Given the description of an element on the screen output the (x, y) to click on. 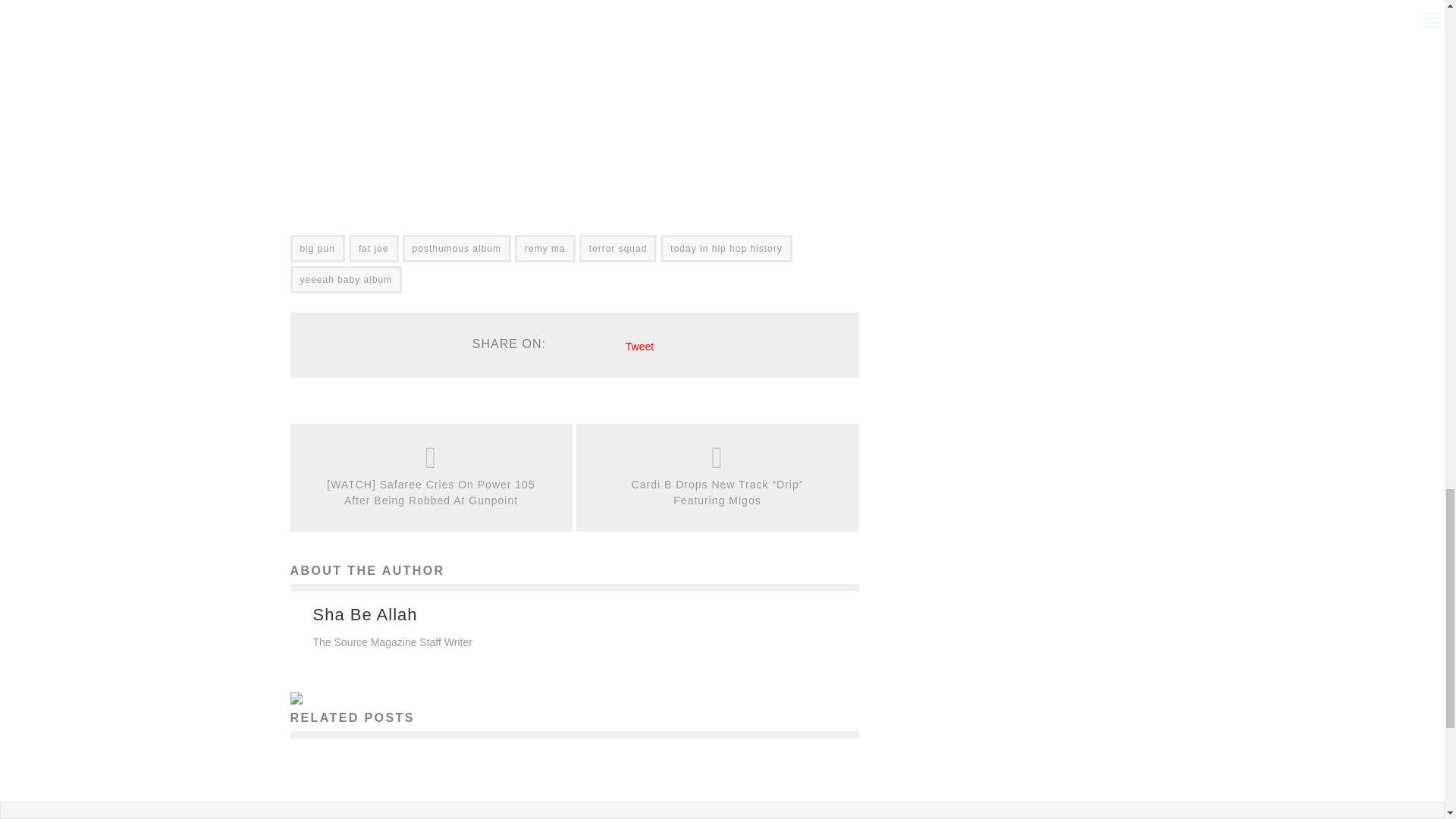
Sha Be Allah (364, 614)
remy ma (545, 248)
fat joe (373, 248)
terror squad (618, 248)
posthumous album (457, 248)
yeeeah baby album (345, 279)
big pun (316, 248)
Tweet (639, 346)
today in hip hop history (726, 248)
